Given the description of an element on the screen output the (x, y) to click on. 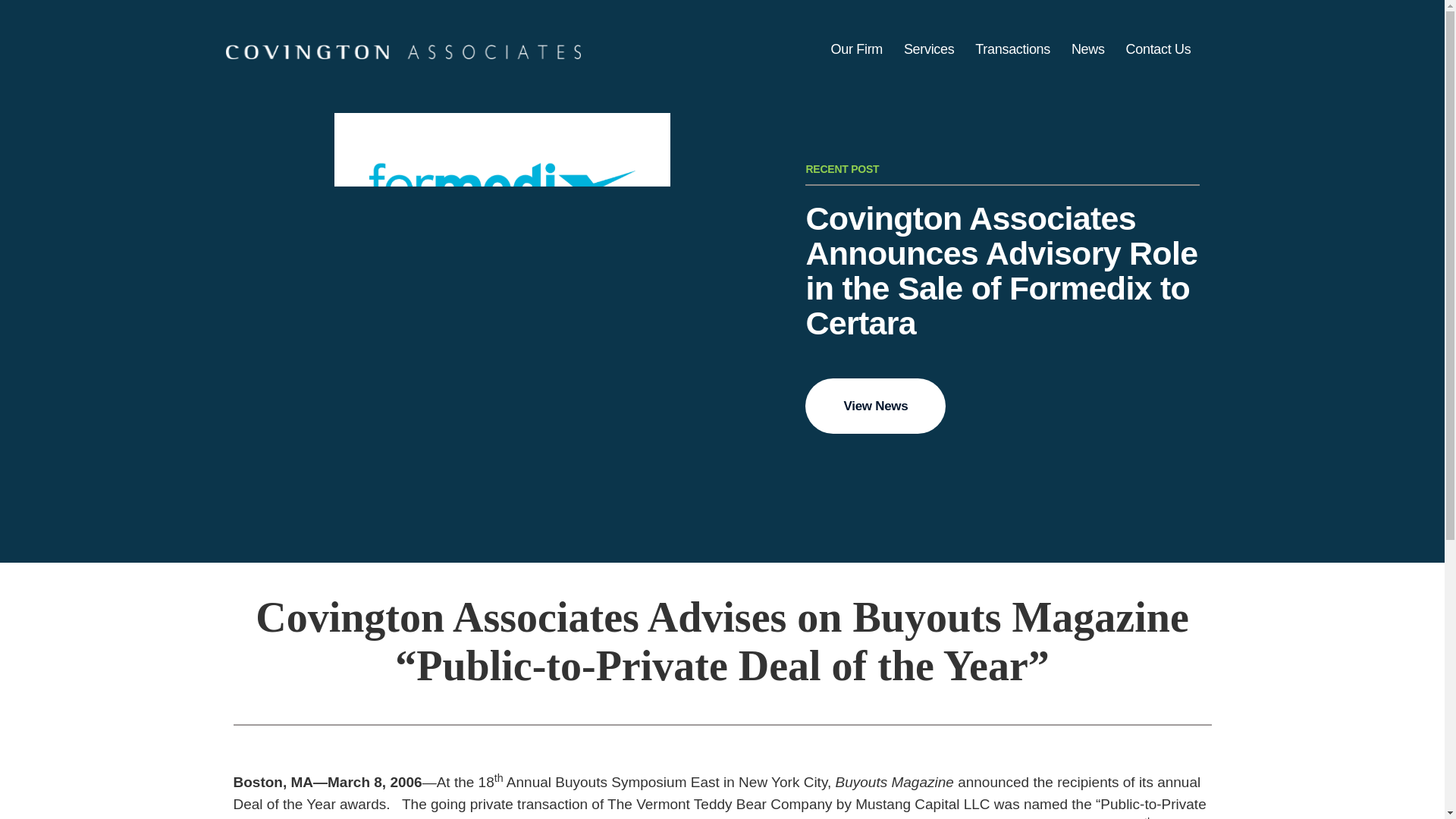
Services (929, 48)
Transactions (1012, 48)
Contact Us (1157, 48)
News (1087, 48)
Our Firm (857, 48)
View News (874, 406)
